Given the description of an element on the screen output the (x, y) to click on. 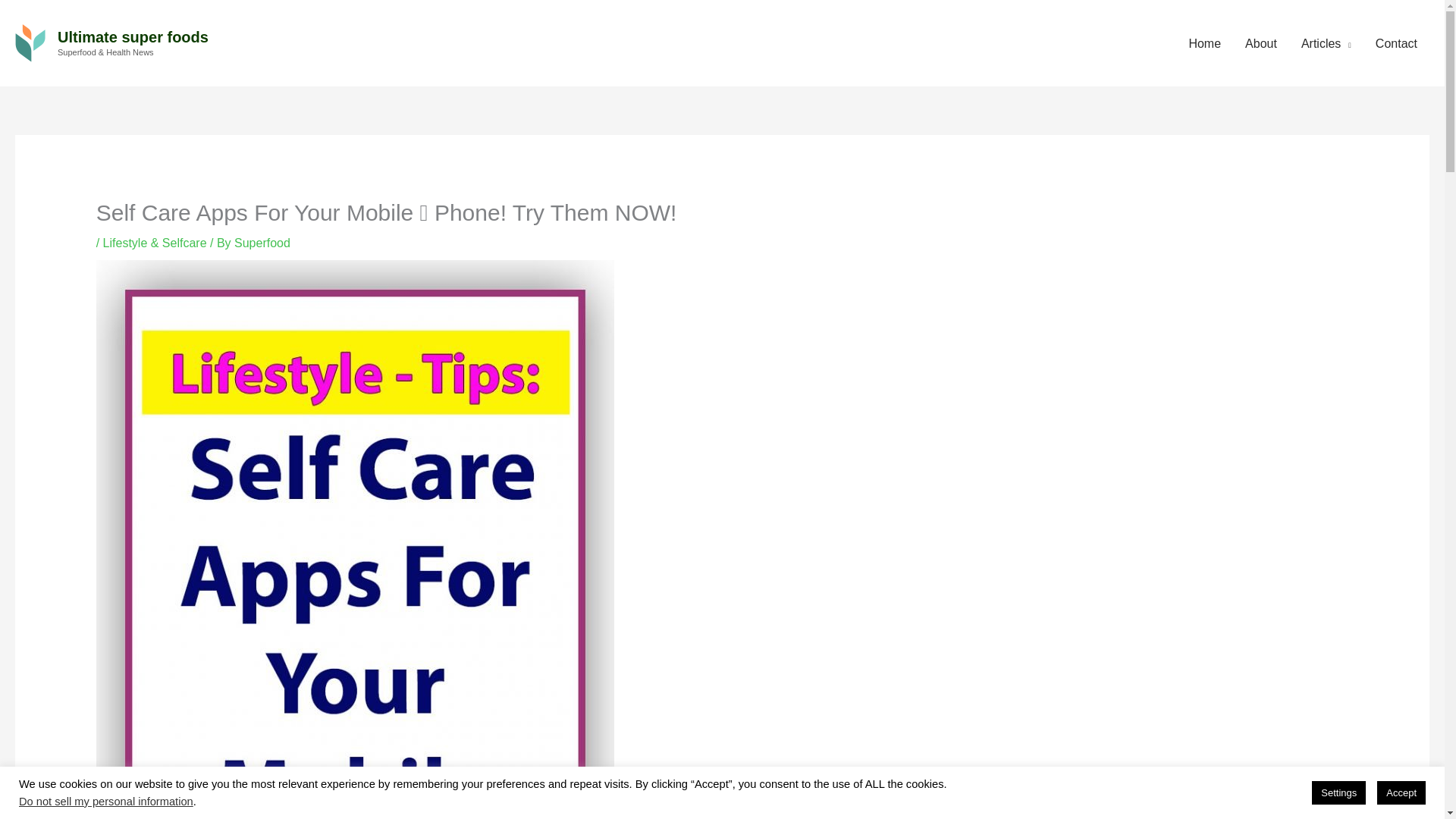
About (1260, 43)
Ultimate super foods (133, 36)
Articles (1325, 43)
Home (1204, 43)
Superfood (261, 242)
View all posts by Superfood (261, 242)
Contact (1395, 43)
